Given the description of an element on the screen output the (x, y) to click on. 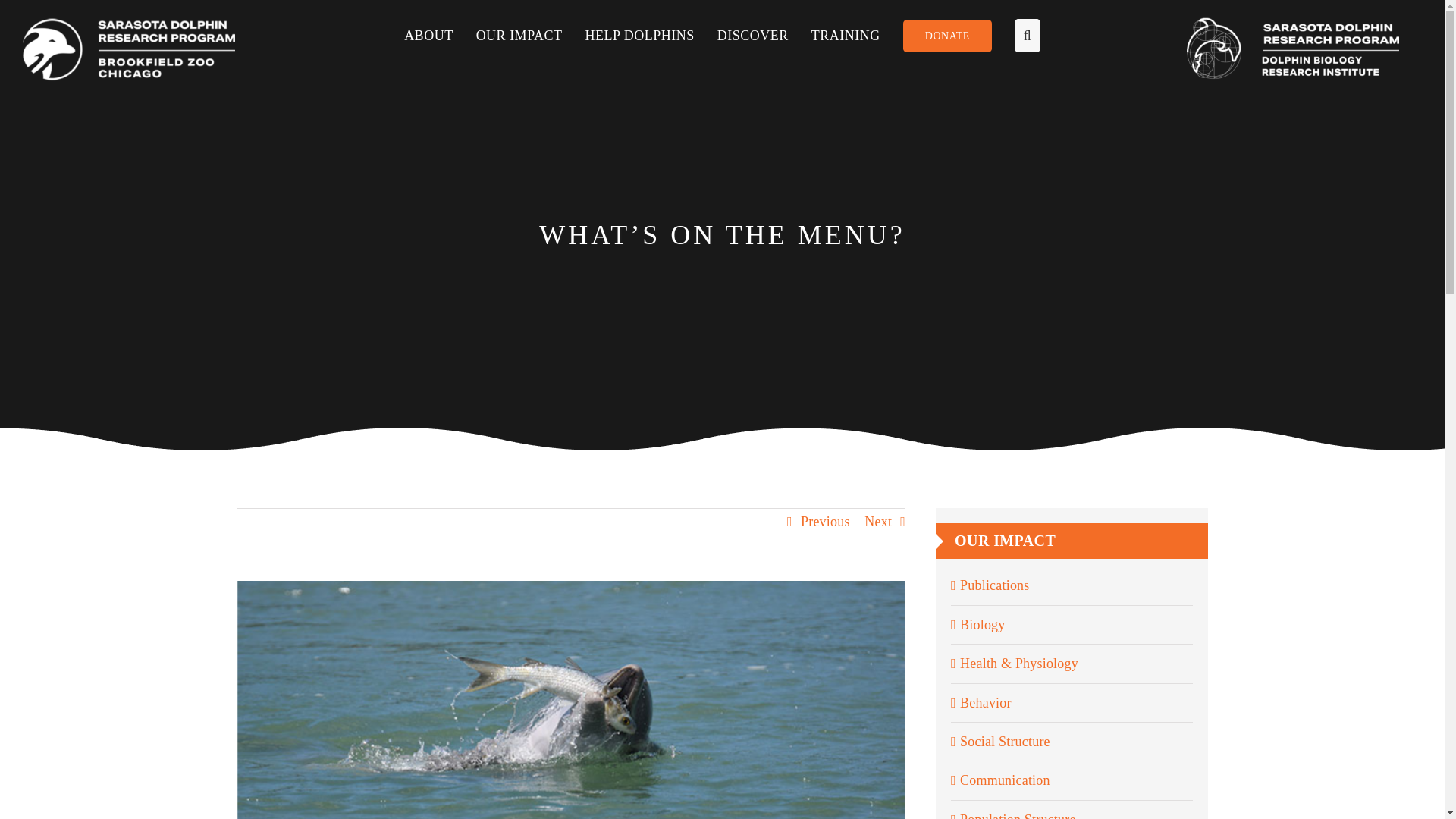
OUR IMPACT (530, 35)
ABOUT (440, 35)
Search (1016, 35)
HELP DOLPHINS (651, 35)
DISCOVER (763, 35)
